Given the description of an element on the screen output the (x, y) to click on. 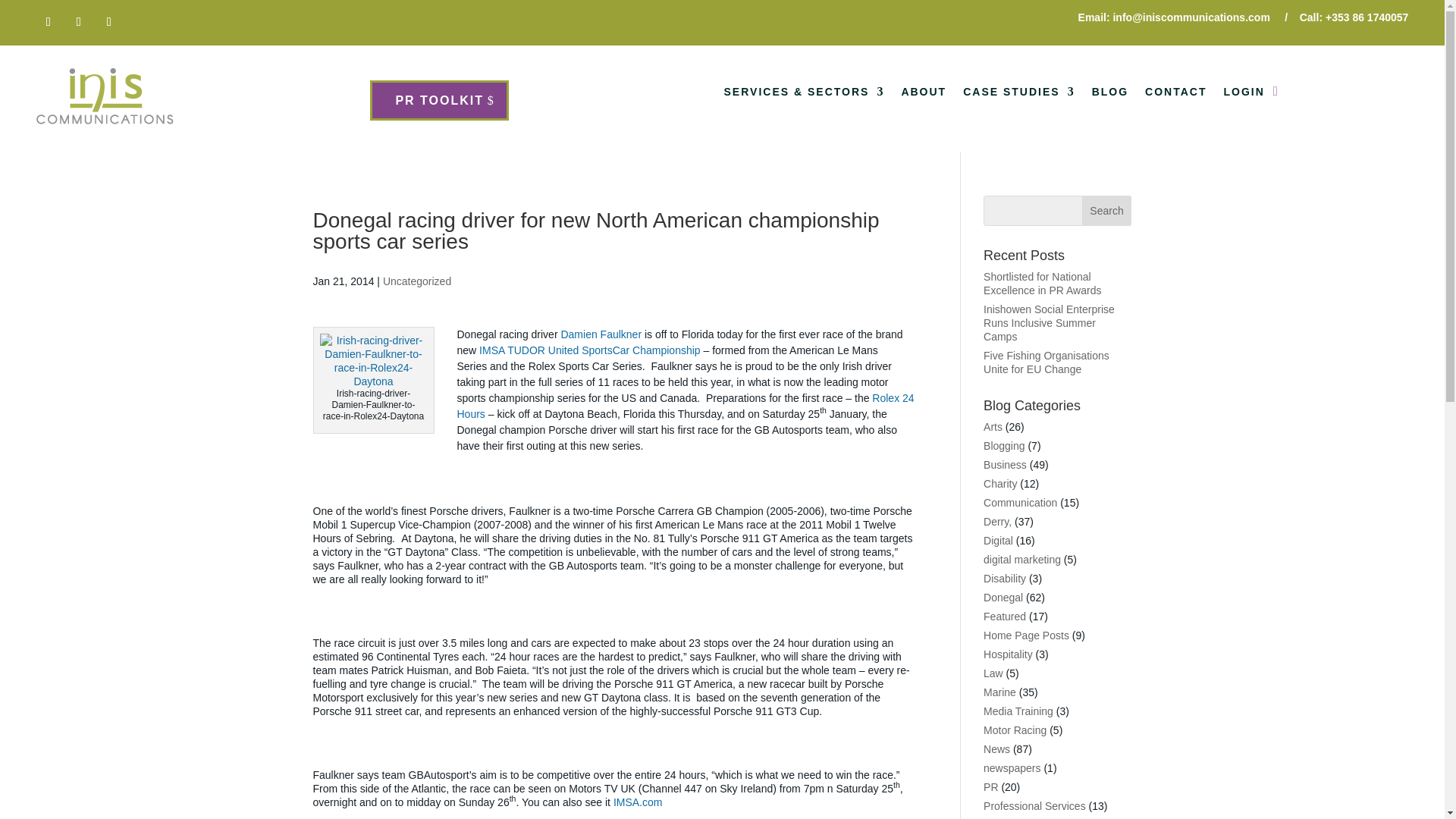
Follow on LinkedIn (108, 21)
PR TOOLKIT (438, 100)
Search (1106, 210)
CONTACT (1175, 94)
Follow on Facebook (48, 21)
ABOUT (923, 94)
Follow on X (78, 21)
inis-communications (105, 97)
LOGIN (1243, 94)
BLOG (1110, 94)
CASE STUDIES (1018, 94)
